Given the description of an element on the screen output the (x, y) to click on. 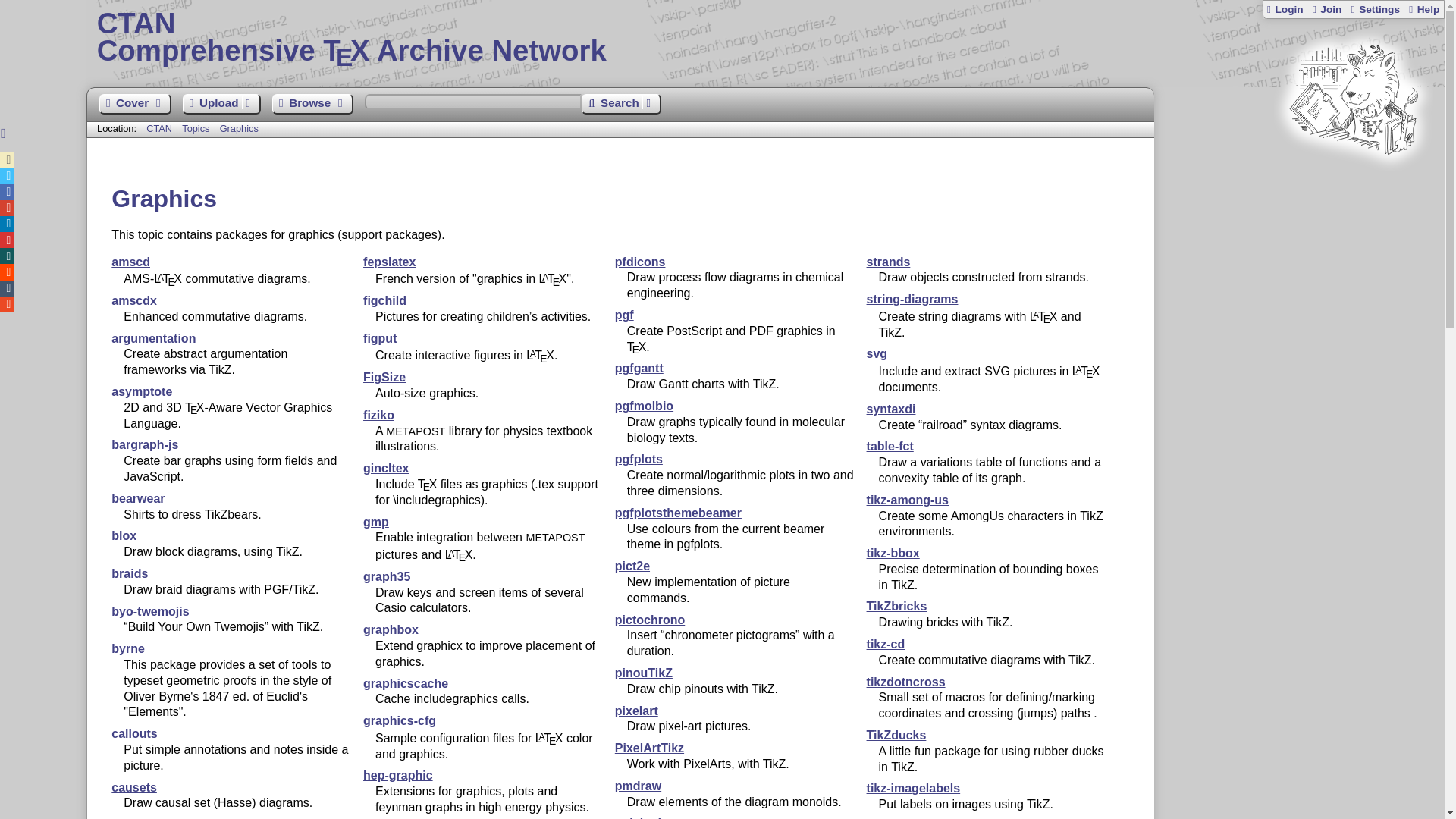
bargraph-js (144, 444)
bearwear (138, 498)
Search (620, 104)
CTAN lion drawing by Duane Bibby (1353, 183)
Login (1284, 8)
Cover (134, 104)
asymptote (141, 391)
braids (130, 573)
amscdx (134, 300)
Adjust the appearance to your taste (1374, 8)
blox (124, 535)
Upload (221, 104)
Login with your personal account (1284, 8)
CTAN (159, 128)
Get some information about this Web site (1423, 8)
